Given the description of an element on the screen output the (x, y) to click on. 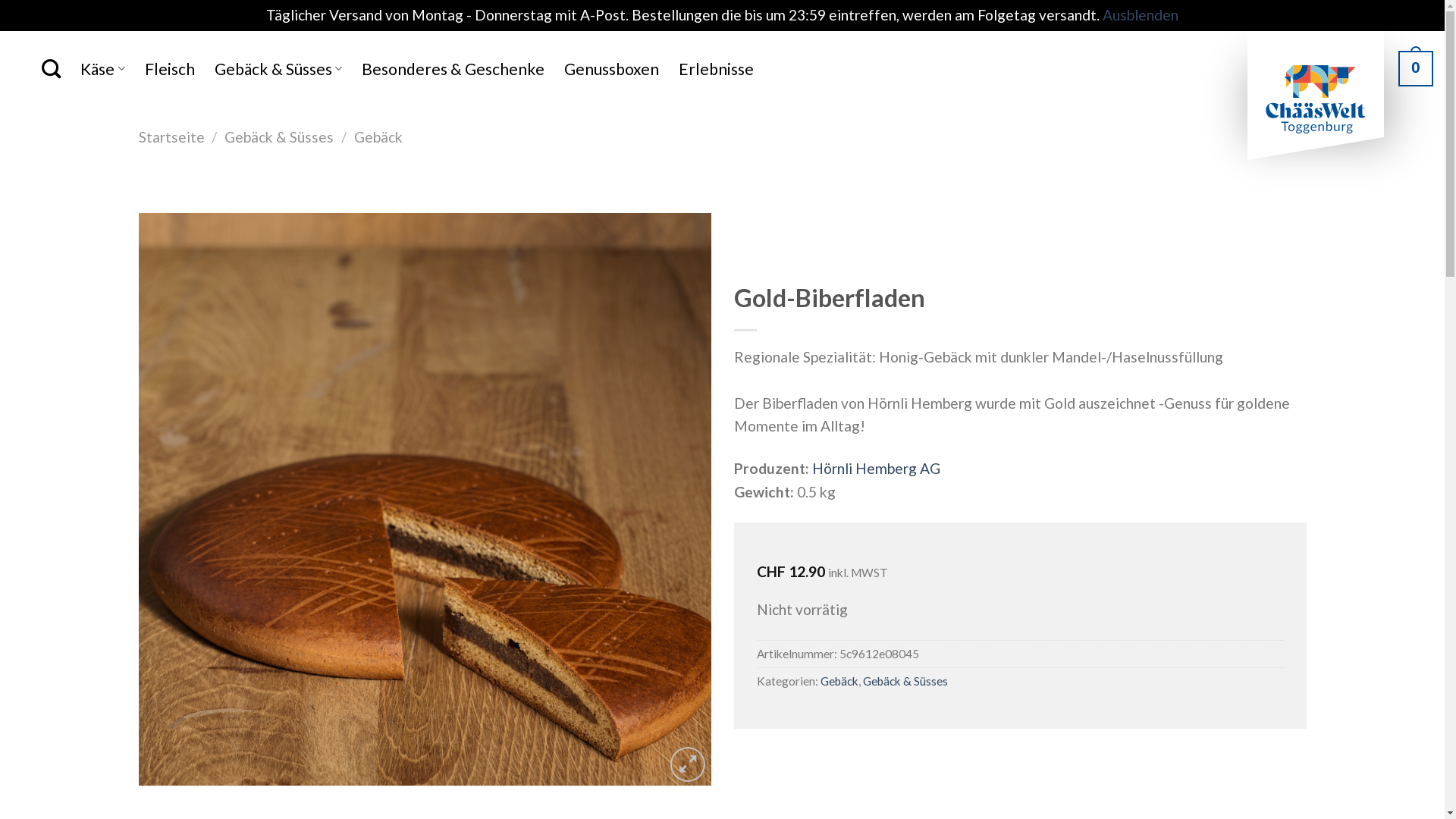
Startseite Element type: text (170, 136)
Zoom Element type: hover (688, 764)
Besonderes & Geschenke Element type: text (452, 68)
Erlebnisse Element type: text (715, 68)
Fleisch Element type: text (169, 68)
0 Element type: text (1415, 68)
Ausblenden Element type: text (1140, 14)
Genussboxen Element type: text (611, 68)
